Given the description of an element on the screen output the (x, y) to click on. 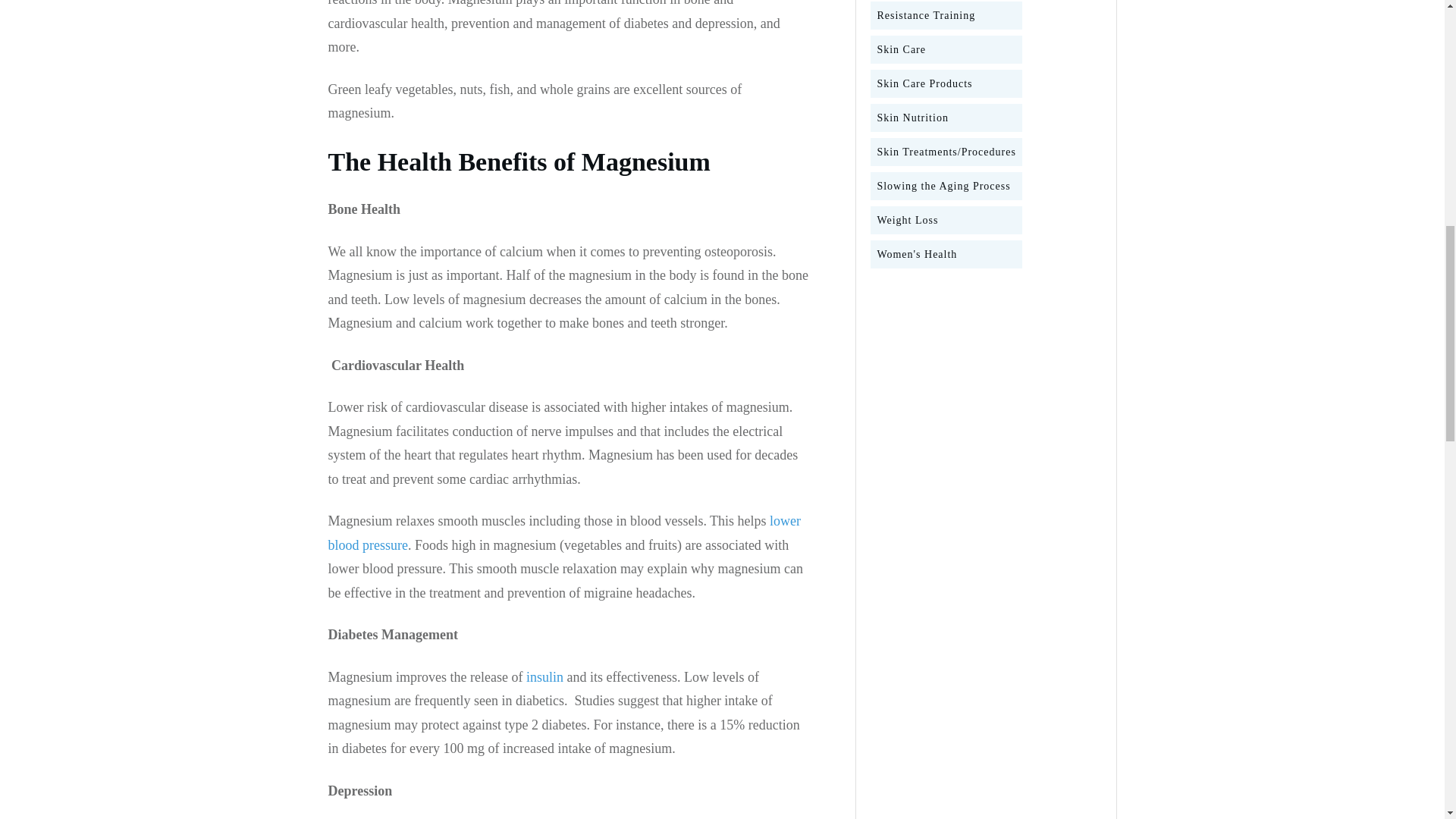
insulin (544, 676)
natural ways to lower blood pressure (563, 532)
insulin and weight loss (544, 676)
lower blood pressure (563, 532)
